Given the description of an element on the screen output the (x, y) to click on. 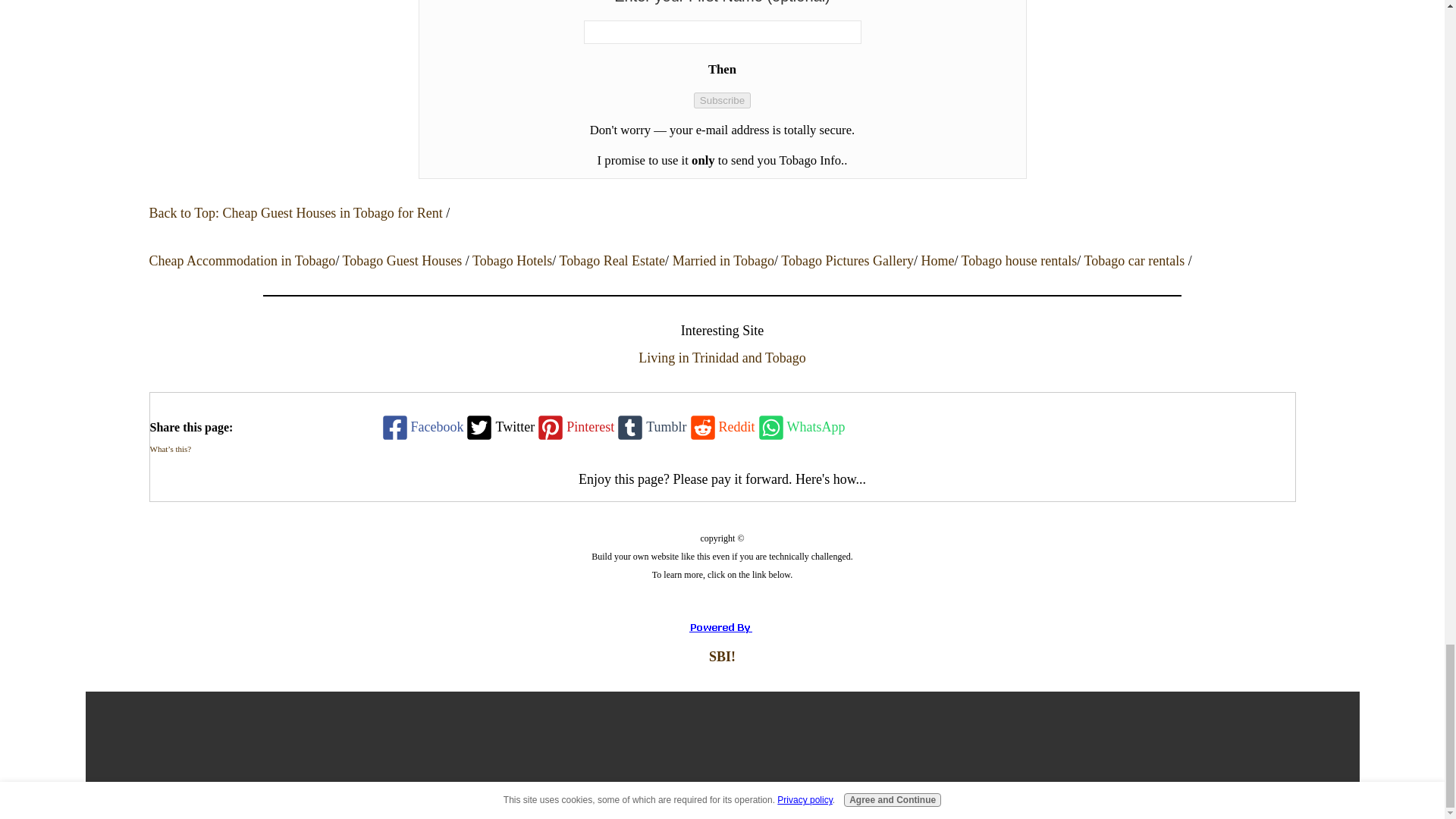
WhatsApp (800, 427)
Tobago car rentals (1136, 260)
Cheap Accommodation in Tobago (241, 260)
Twitter (498, 427)
Reddit (721, 427)
Tobago Hotels (511, 260)
Married in Tobago (723, 260)
Tumblr (649, 427)
Pinterest (574, 427)
Tobago Guest Houses (403, 260)
